Given the description of an element on the screen output the (x, y) to click on. 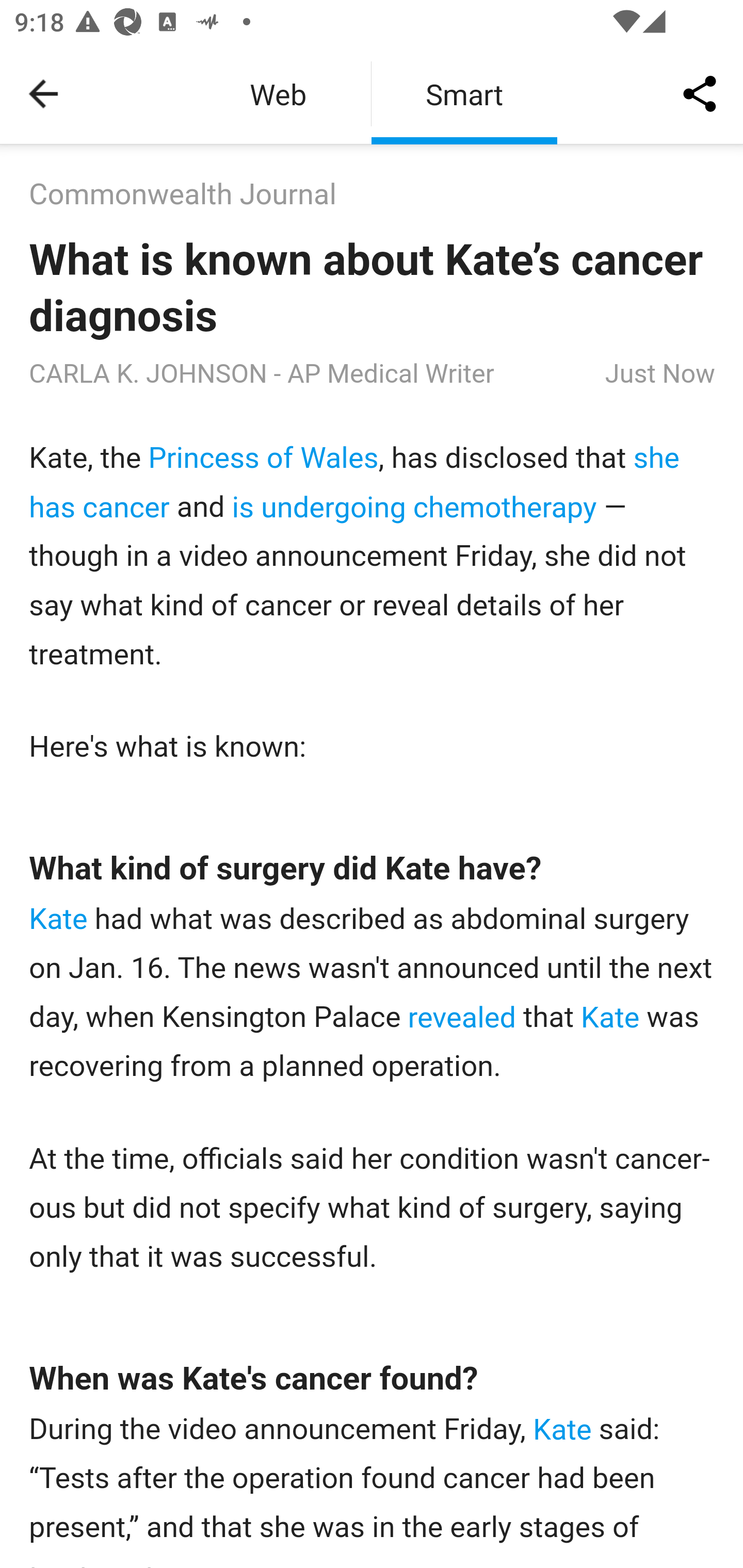
Web (277, 93)
Smart (464, 93)
Commonwealth Journal (182, 195)
she has cancer (354, 481)
Princess of Wales (262, 457)
is undergoing chemotherapy (414, 506)
Kate (58, 918)
revealed (461, 1016)
Kate (609, 1016)
Kate (562, 1429)
